Given the description of an element on the screen output the (x, y) to click on. 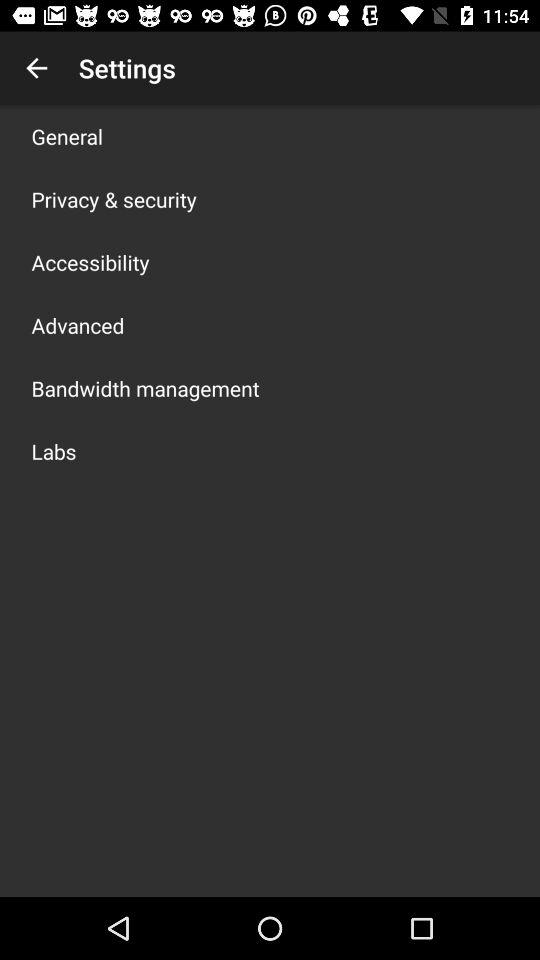
choose app above the accessibility item (113, 199)
